Given the description of an element on the screen output the (x, y) to click on. 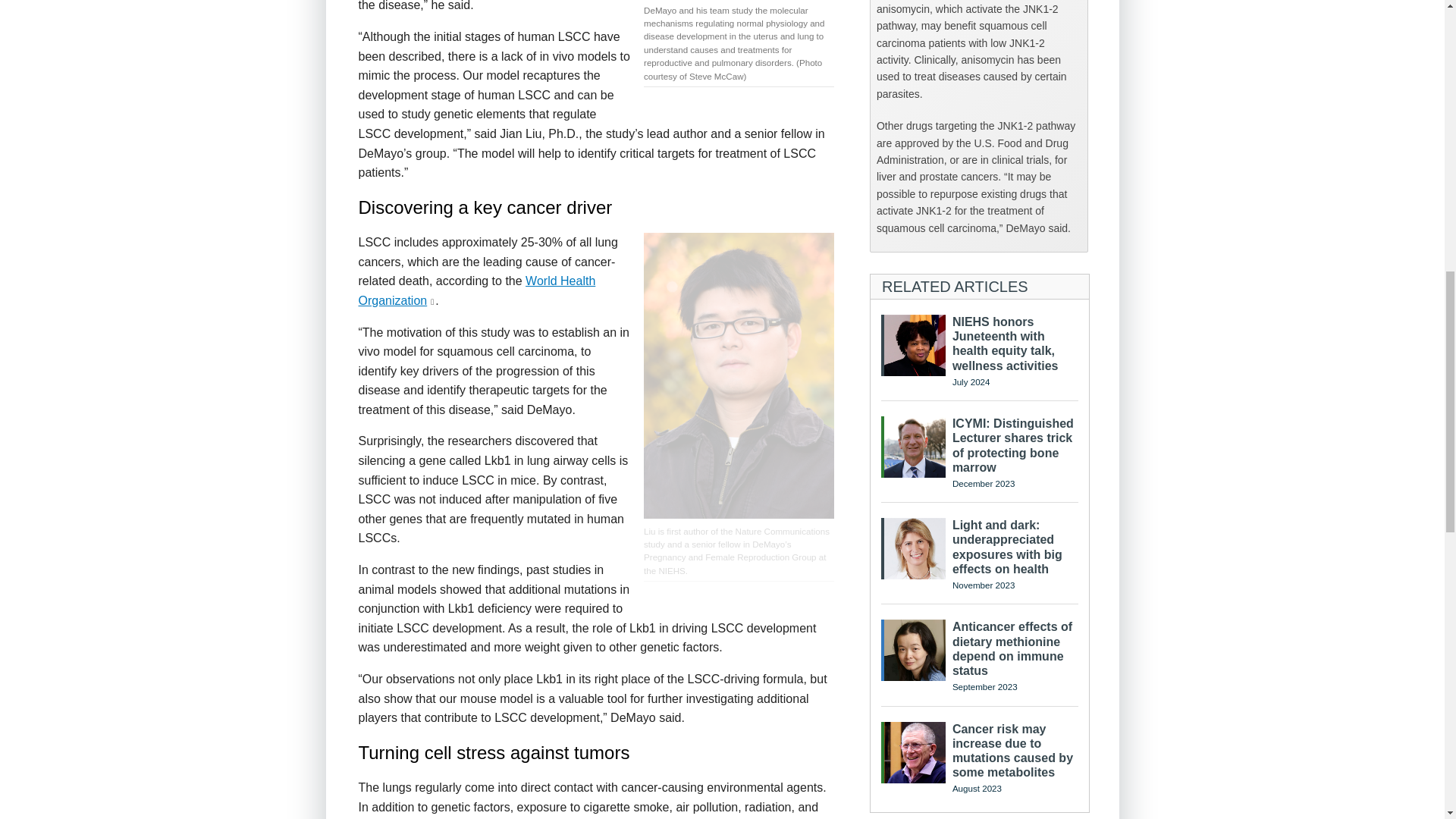
World Health Organization (476, 290)
